Given the description of an element on the screen output the (x, y) to click on. 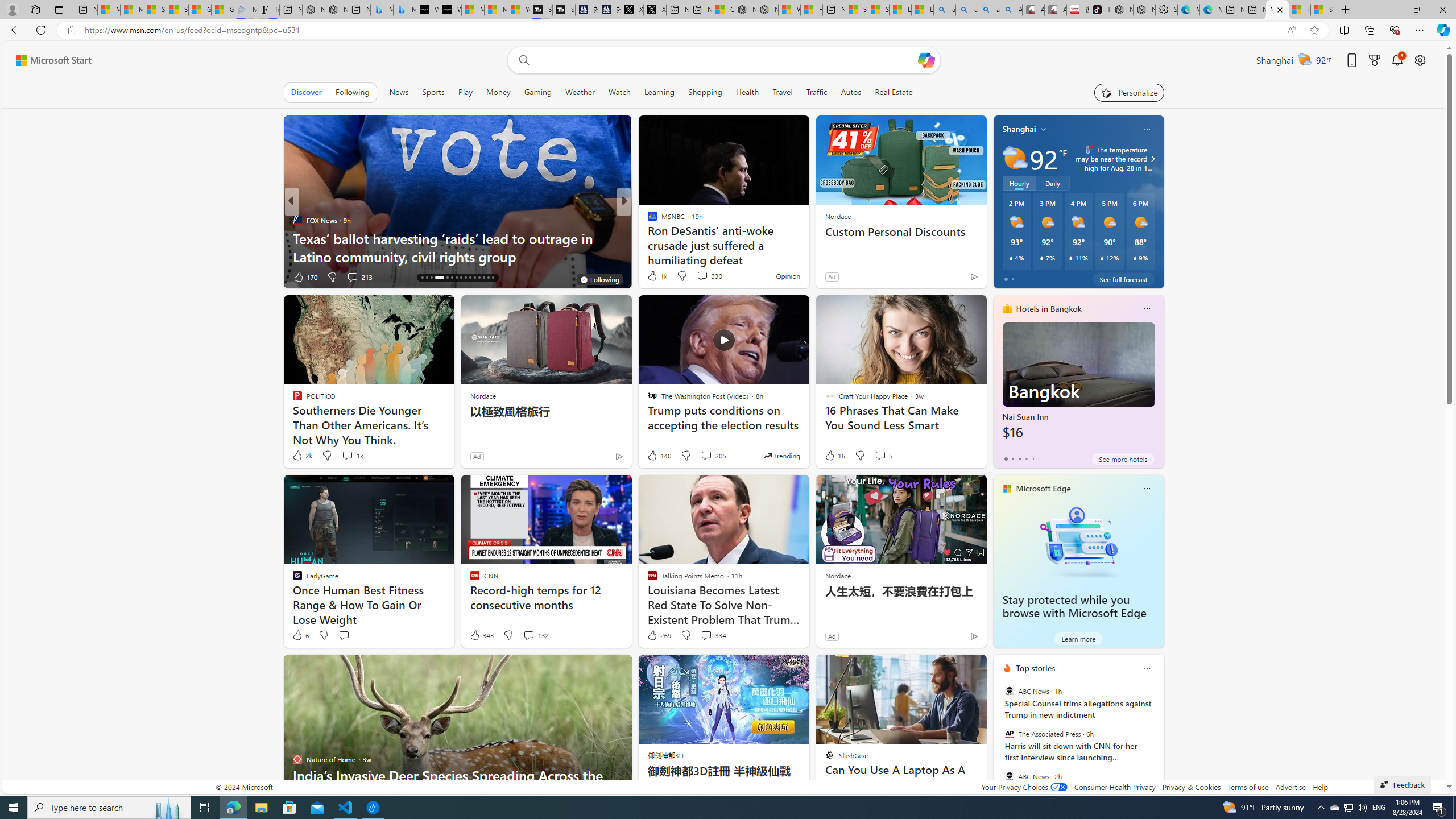
FOX News (296, 219)
AutomationID: tab-20 (446, 277)
See more hotels (1123, 459)
Consumer Health Privacy (1115, 786)
8 Like (651, 276)
View comments 152 Comment (6, 276)
MUO (647, 219)
View comments 132 Comment (528, 635)
269 Like (658, 634)
View comments 5 Comment (882, 455)
AutomationID: tab-29 (488, 277)
